Given the description of an element on the screen output the (x, y) to click on. 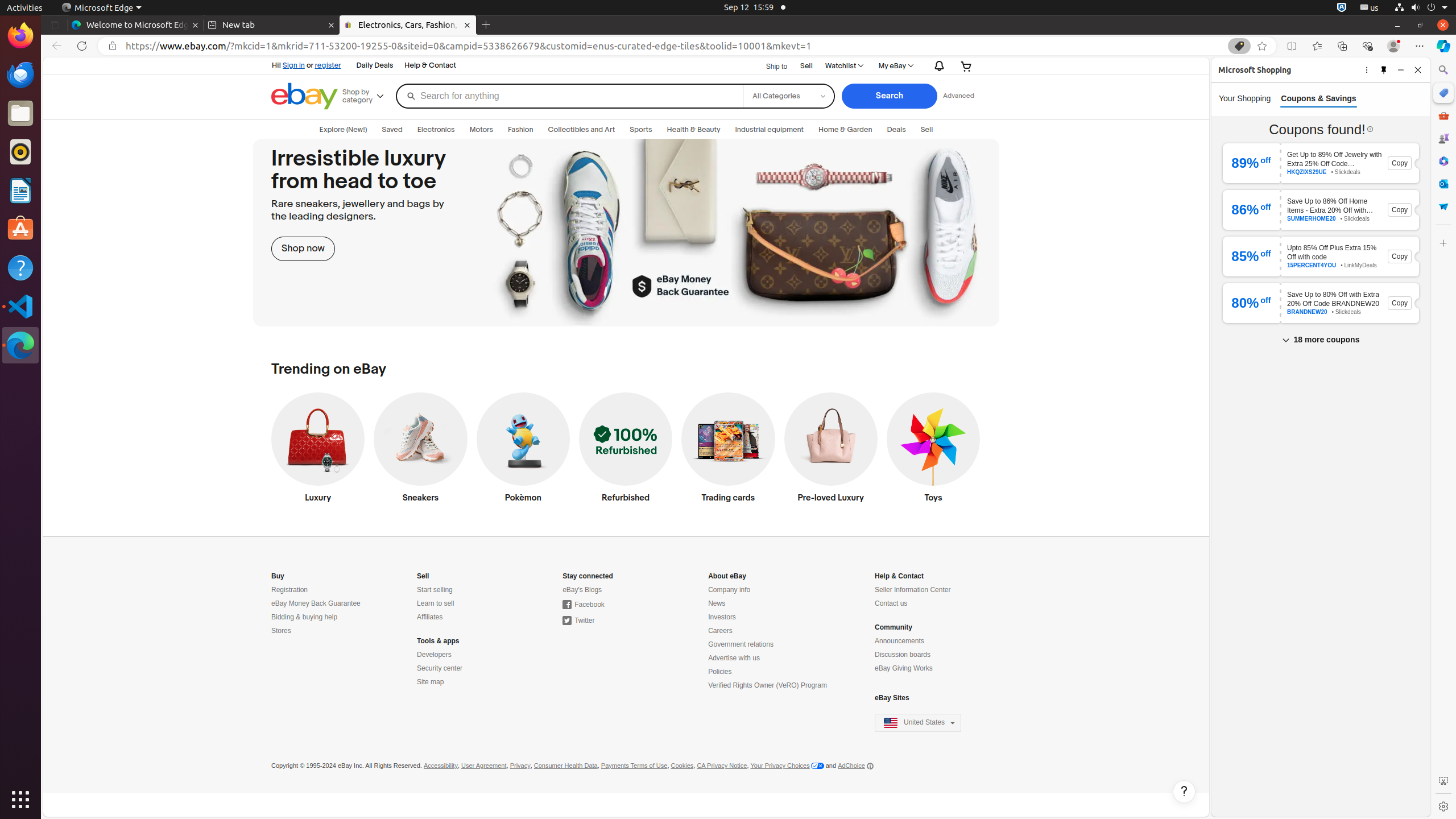
System Element type: menu (1420, 7)
Electronics Element type: link (435, 129)
View site information Element type: push-button (112, 46)
Help & Contact Element type: link (430, 65)
Help, opens dialogs Element type: push-button (1183, 791)
